Given the description of an element on the screen output the (x, y) to click on. 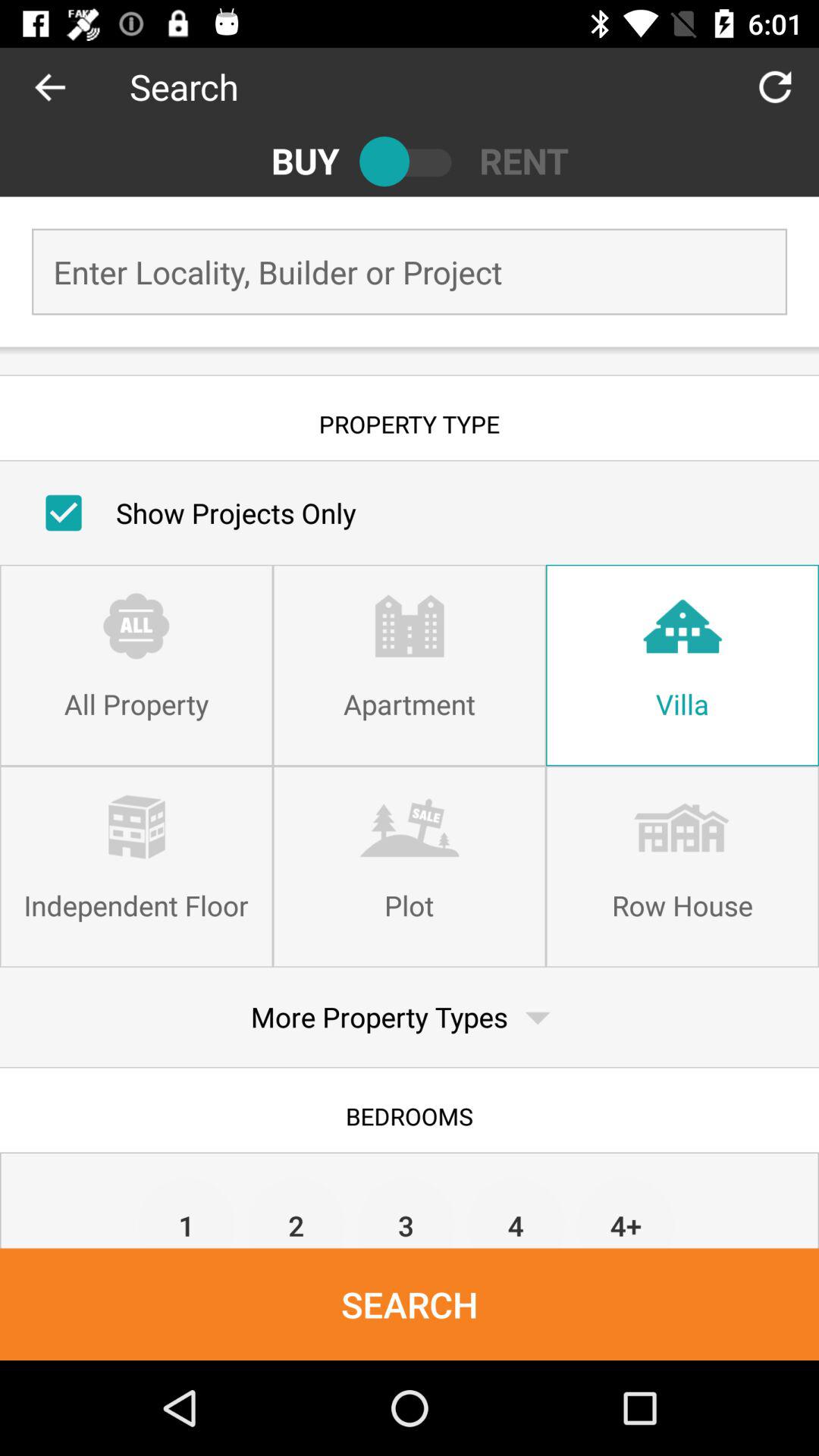
choose icon to the right of 1 item (296, 1212)
